Given the description of an element on the screen output the (x, y) to click on. 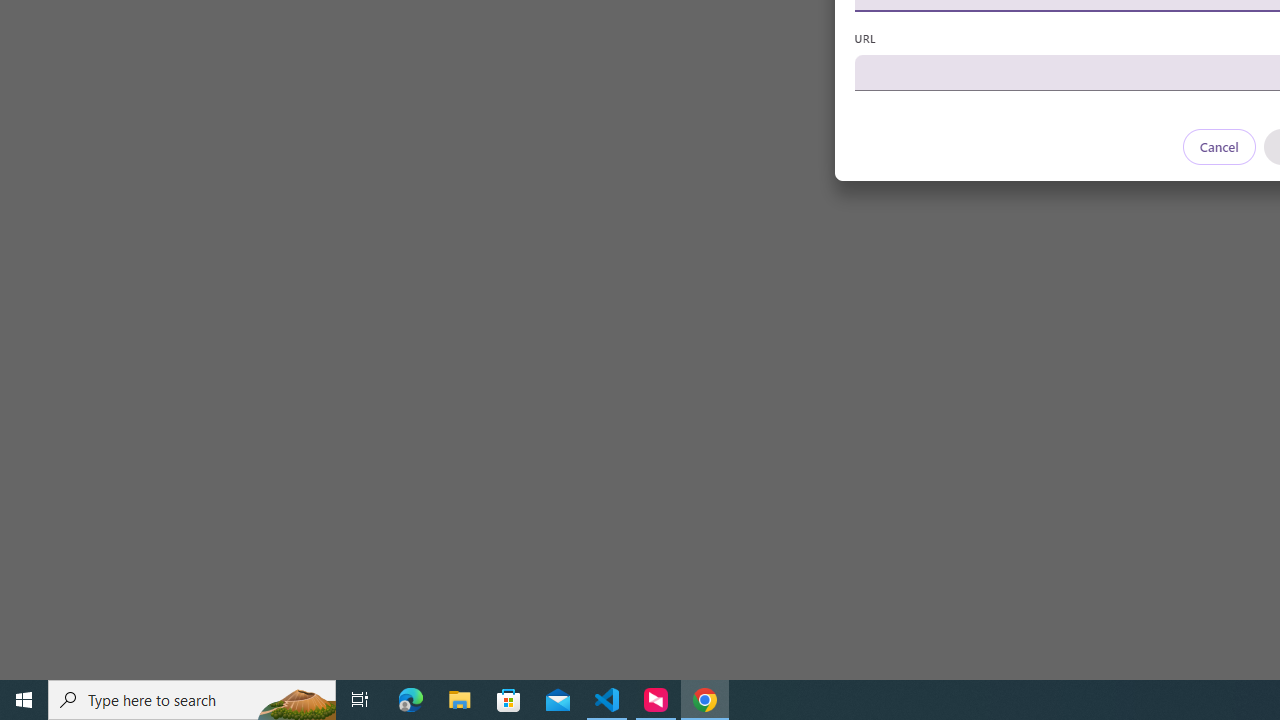
Cancel (1218, 146)
